Given the description of an element on the screen output the (x, y) to click on. 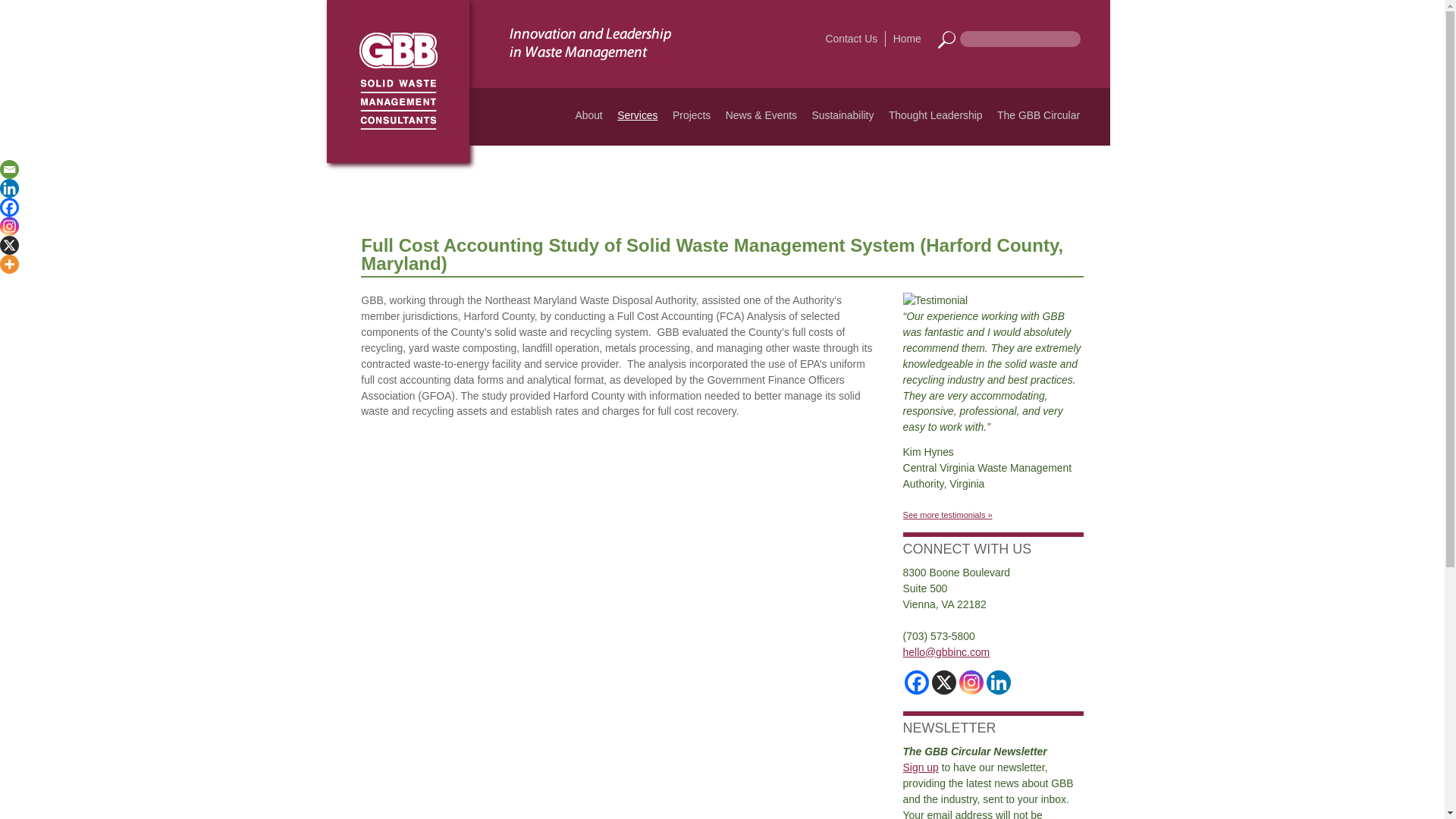
Projects (691, 115)
Services (637, 115)
X (943, 682)
Contact Us (851, 38)
Linkedin (9, 188)
Instagram (971, 682)
Thought Leadership (935, 115)
X (9, 244)
About (588, 115)
Instagram (9, 226)
